Given the description of an element on the screen output the (x, y) to click on. 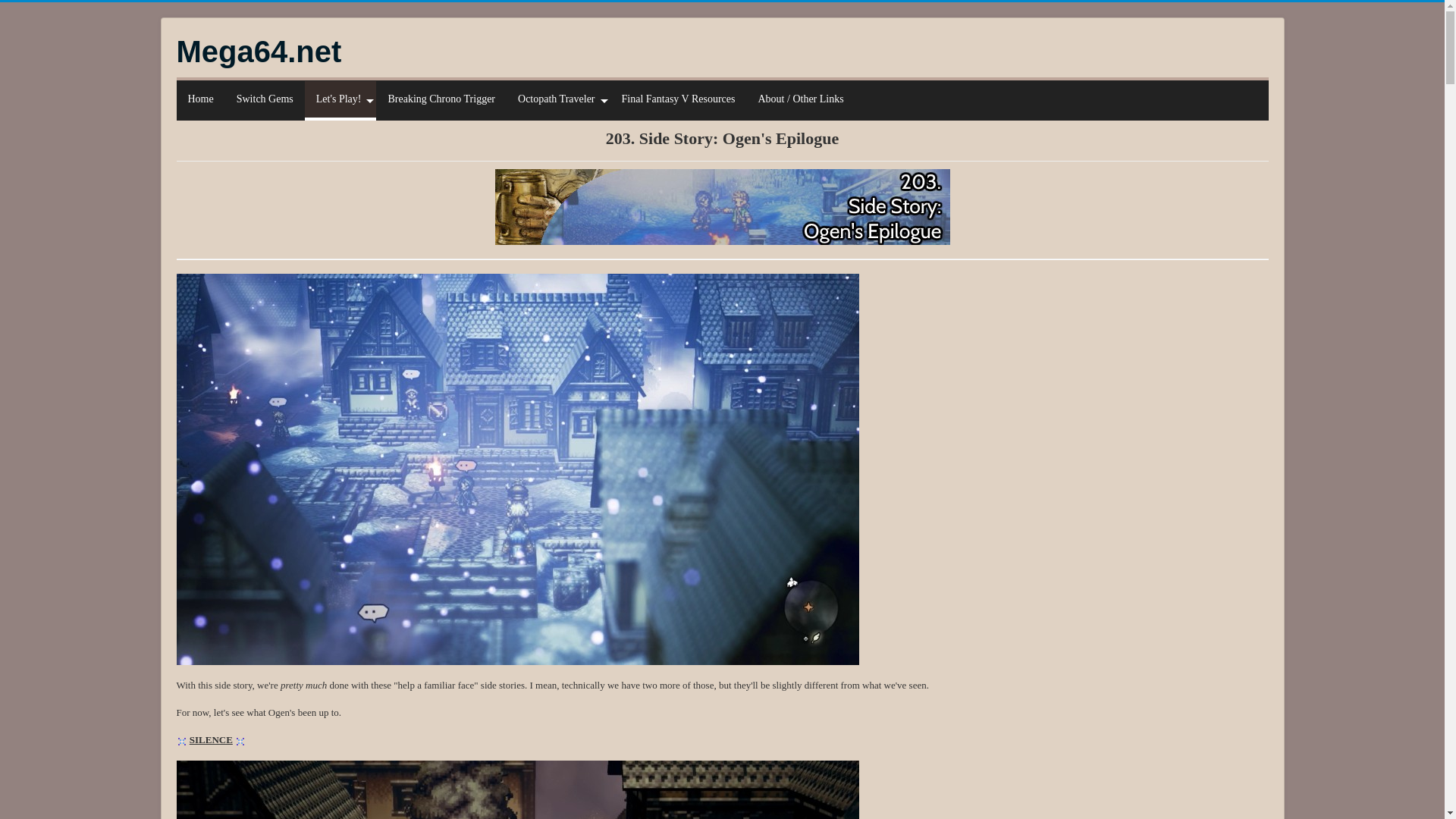
Mega64.net (258, 51)
Home (200, 99)
Switch Gems (264, 99)
Breaking Chrono Trigger (440, 99)
Let's Play! (340, 99)
Final Fantasy V Resources (678, 99)
Mega64.net (258, 51)
Octopath Traveler (558, 99)
